Given the description of an element on the screen output the (x, y) to click on. 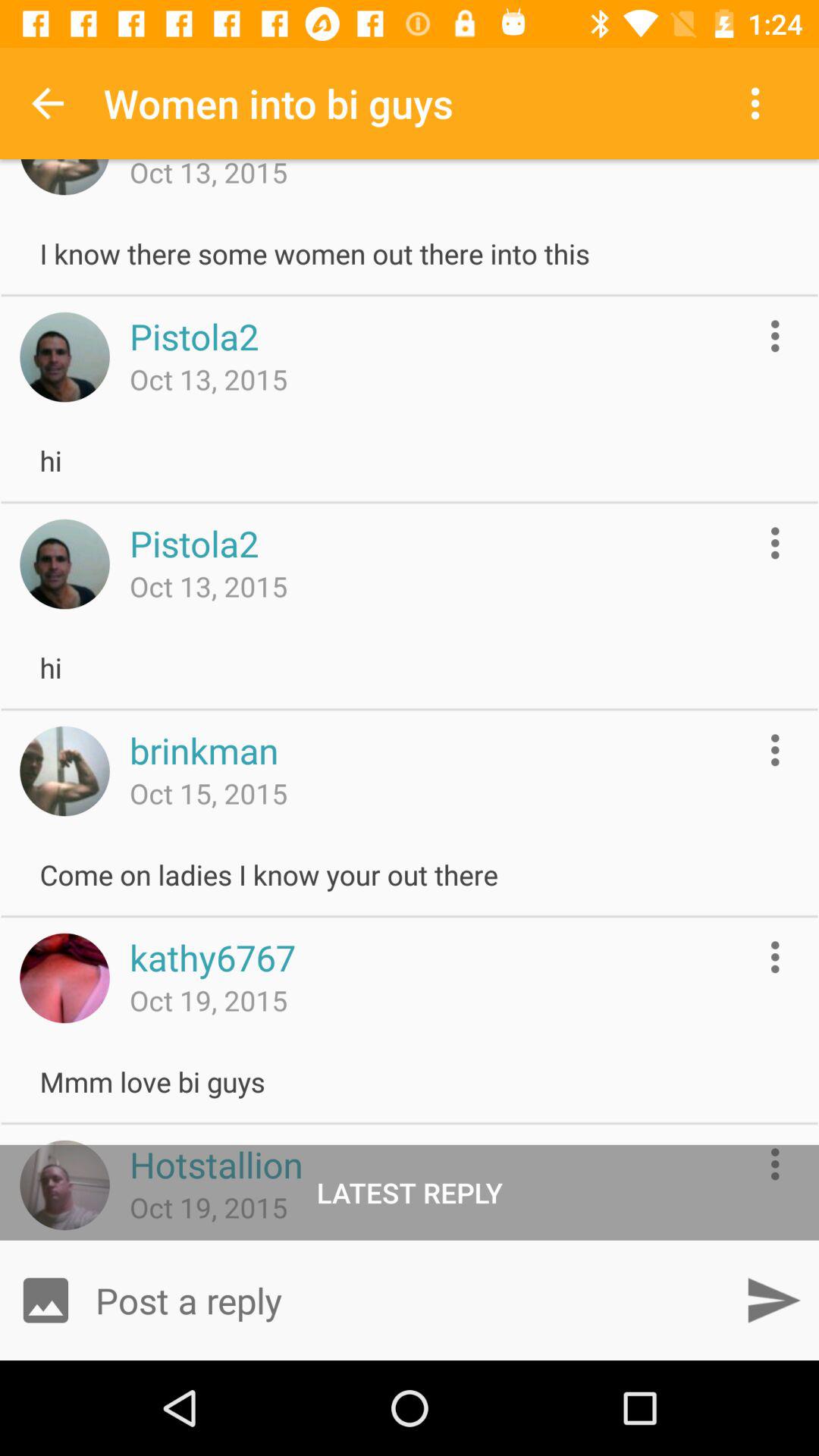
go to option/settings (775, 750)
